Given the description of an element on the screen output the (x, y) to click on. 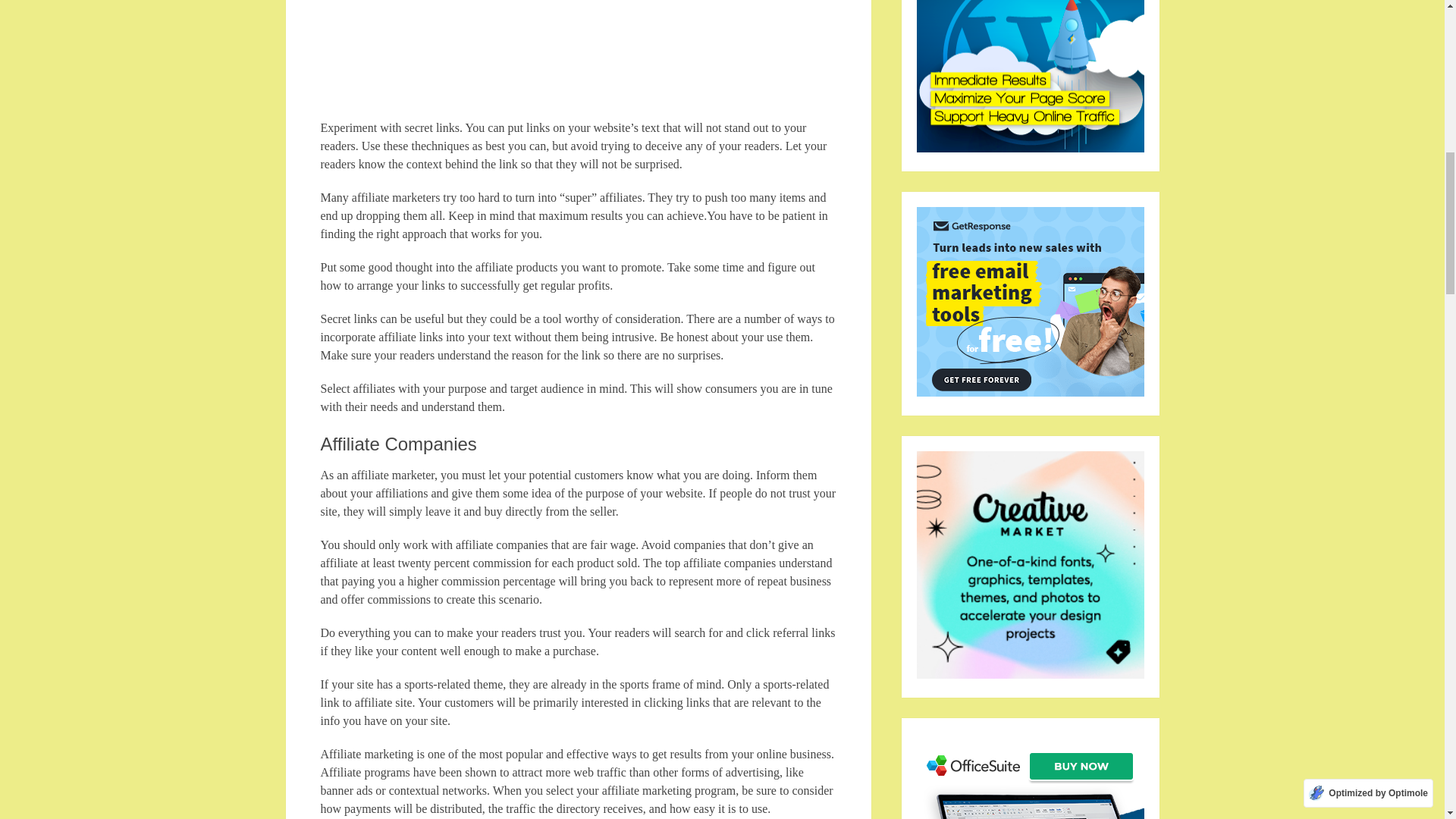
Advertisement (577, 59)
